Given the description of an element on the screen output the (x, y) to click on. 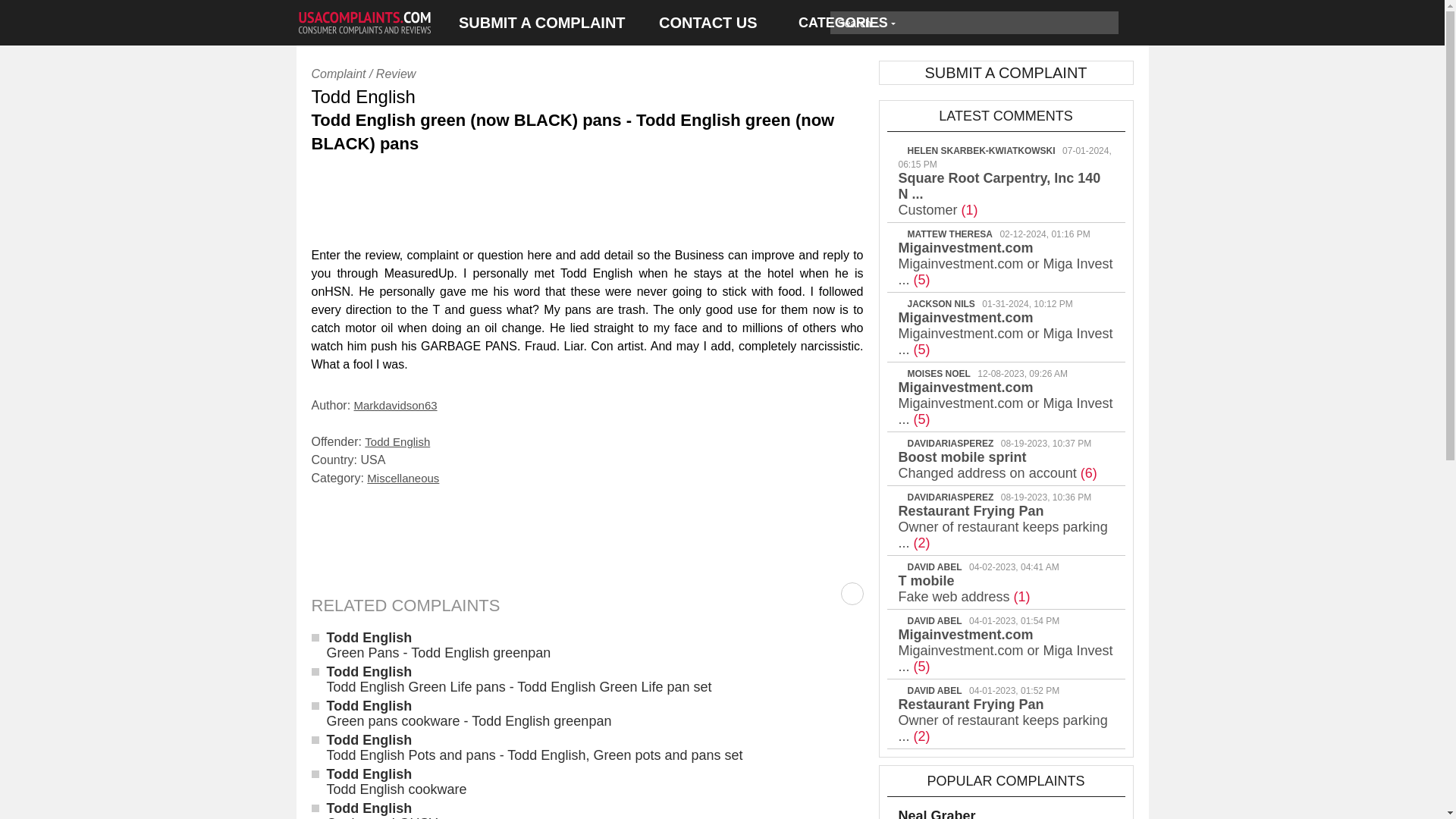
Search... (961, 22)
T mobile - Fake web address (963, 588)
Search... (961, 22)
Find (1106, 22)
CONTACT US (708, 22)
SUBMIT A COMPLAINT (542, 22)
Boost mobile sprint - Changed address on account (997, 464)
